Given the description of an element on the screen output the (x, y) to click on. 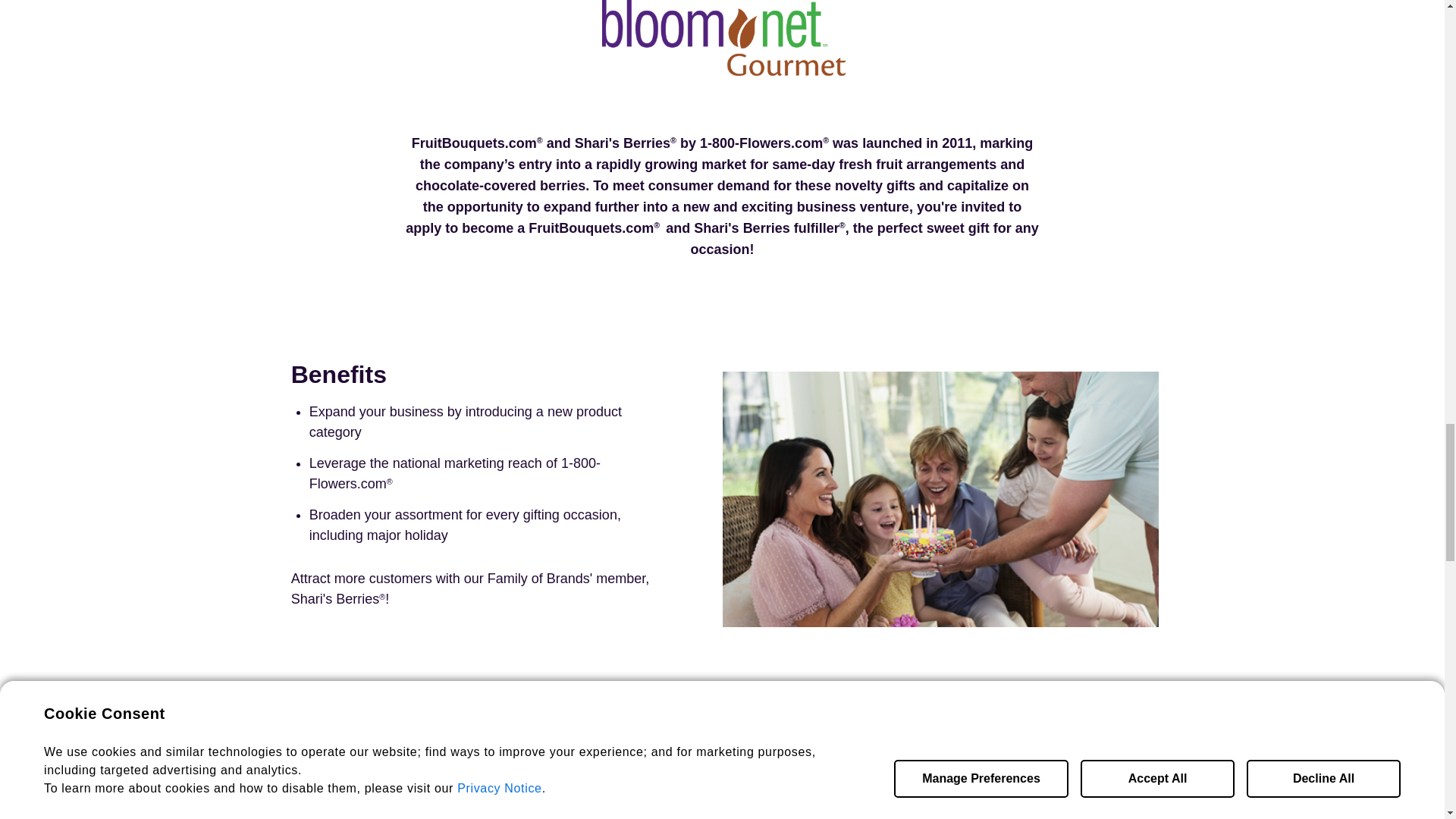
video-player (499, 774)
